Given the description of an element on the screen output the (x, y) to click on. 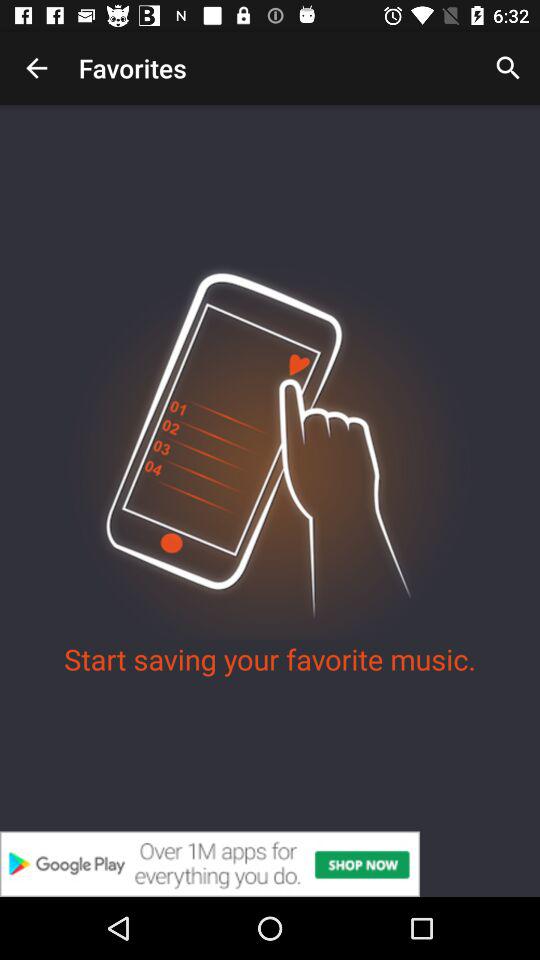
advertisements (270, 864)
